Given the description of an element on the screen output the (x, y) to click on. 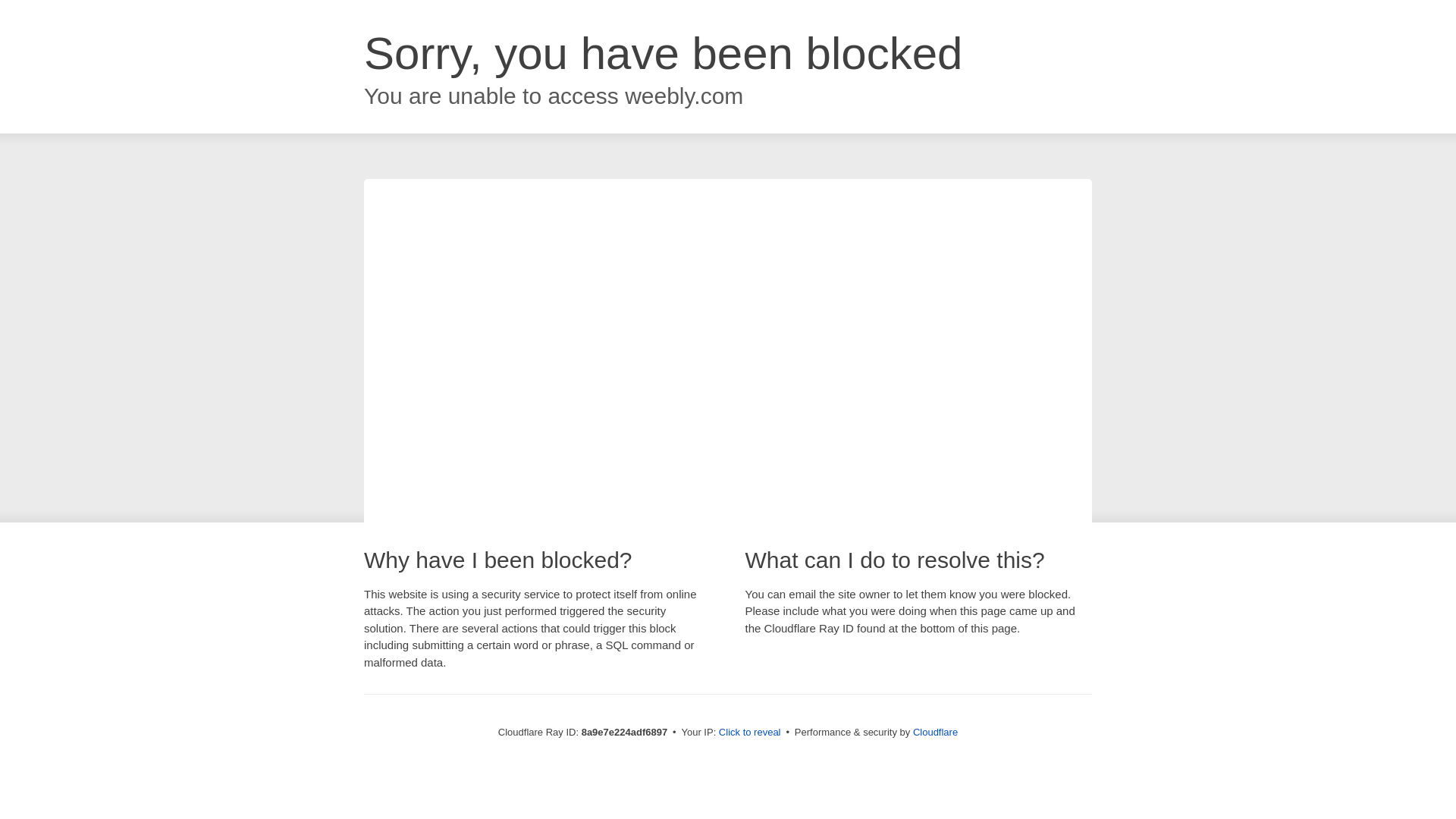
Cloudflare (935, 731)
Click to reveal (749, 732)
